Given the description of an element on the screen output the (x, y) to click on. 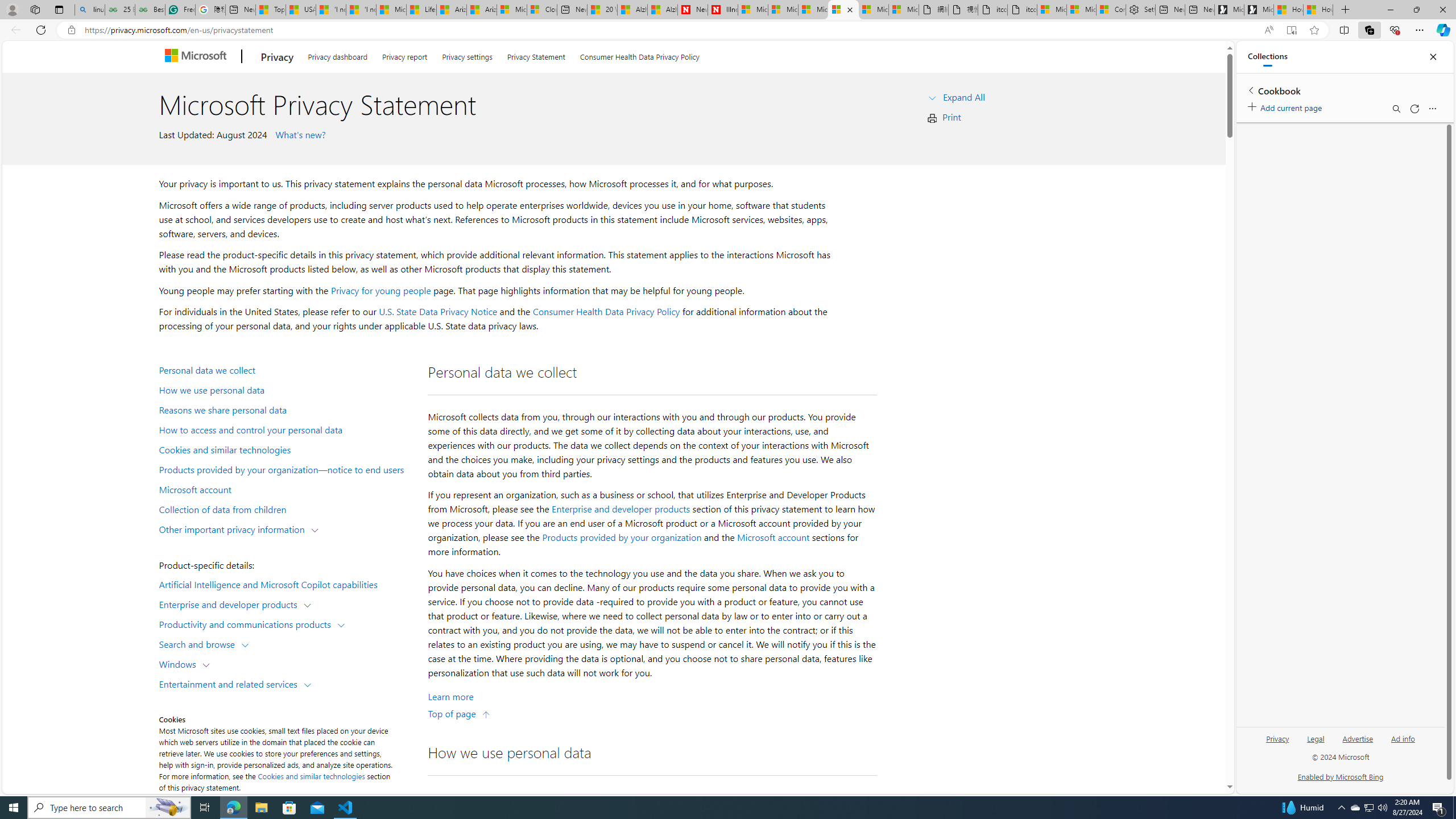
Newsweek - News, Analysis, Politics, Business, Technology (691, 9)
Privacy dashboard (337, 54)
Best SSL Certificates Provider in India - GeeksforGeeks (149, 9)
